Given the description of an element on the screen output the (x, y) to click on. 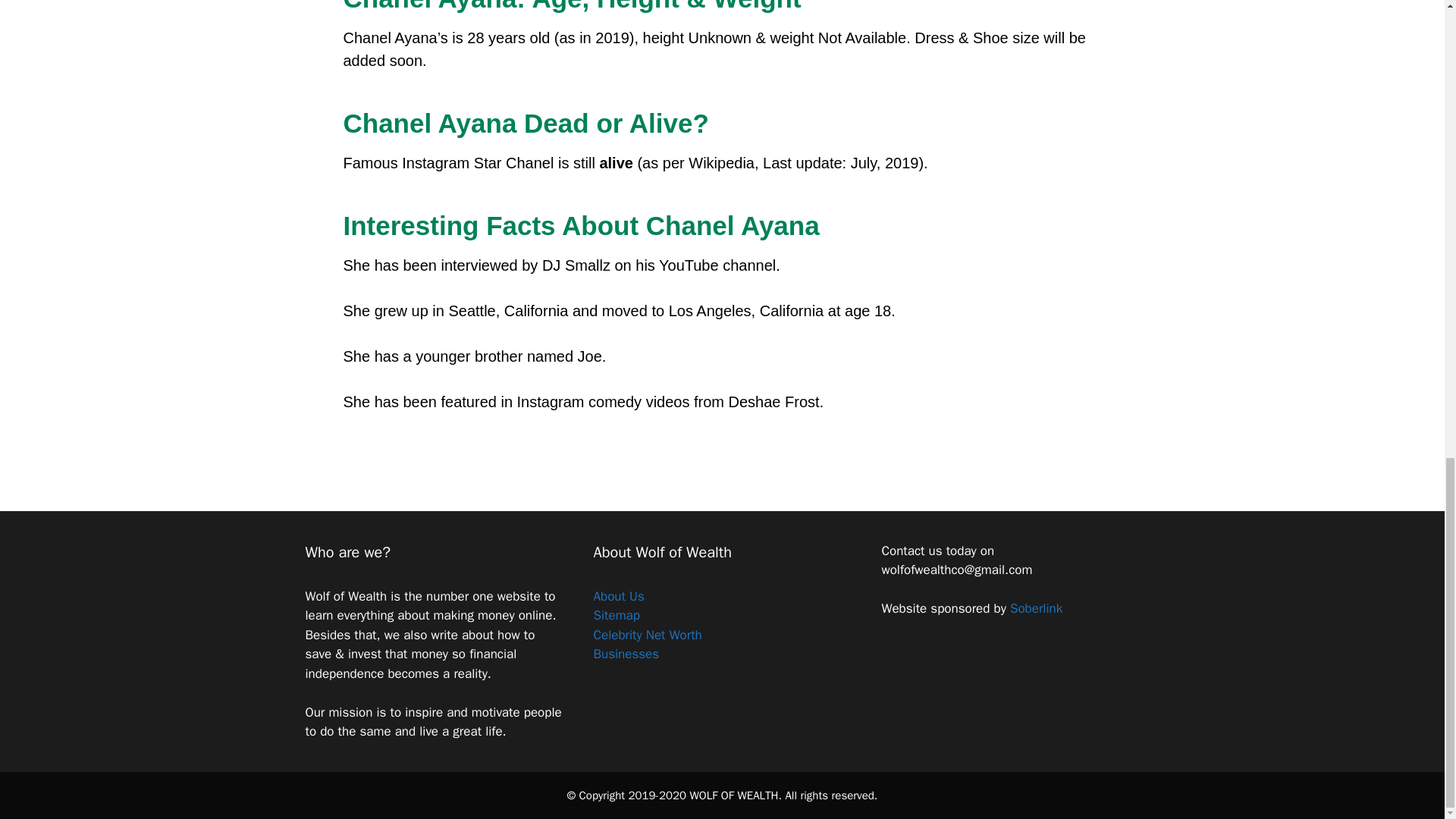
Soberlink (1036, 608)
About Us (617, 596)
Businesses (625, 653)
Sitemap (615, 615)
Celebrity Net Worth (646, 634)
